Given the description of an element on the screen output the (x, y) to click on. 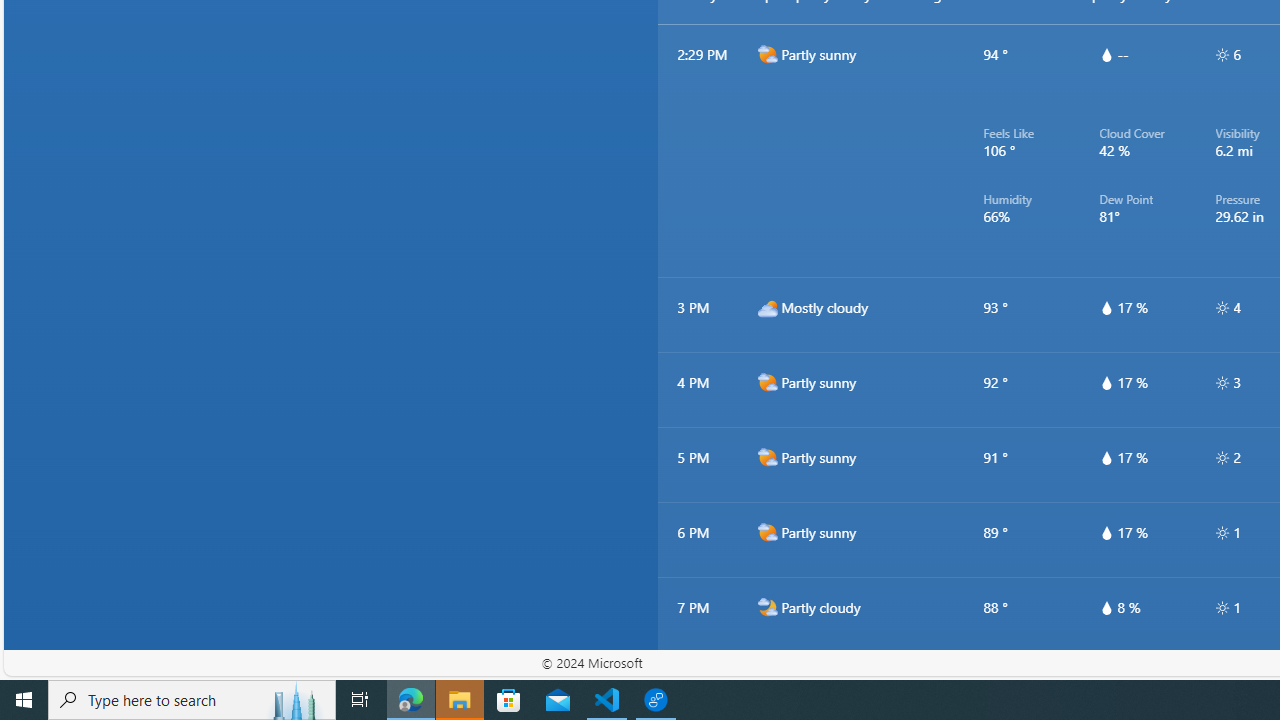
d3000 (767, 308)
hourlyTable/drop (1106, 607)
hourlyTable/uv (1222, 607)
d2000 (767, 532)
n2000 (767, 682)
